Given the description of an element on the screen output the (x, y) to click on. 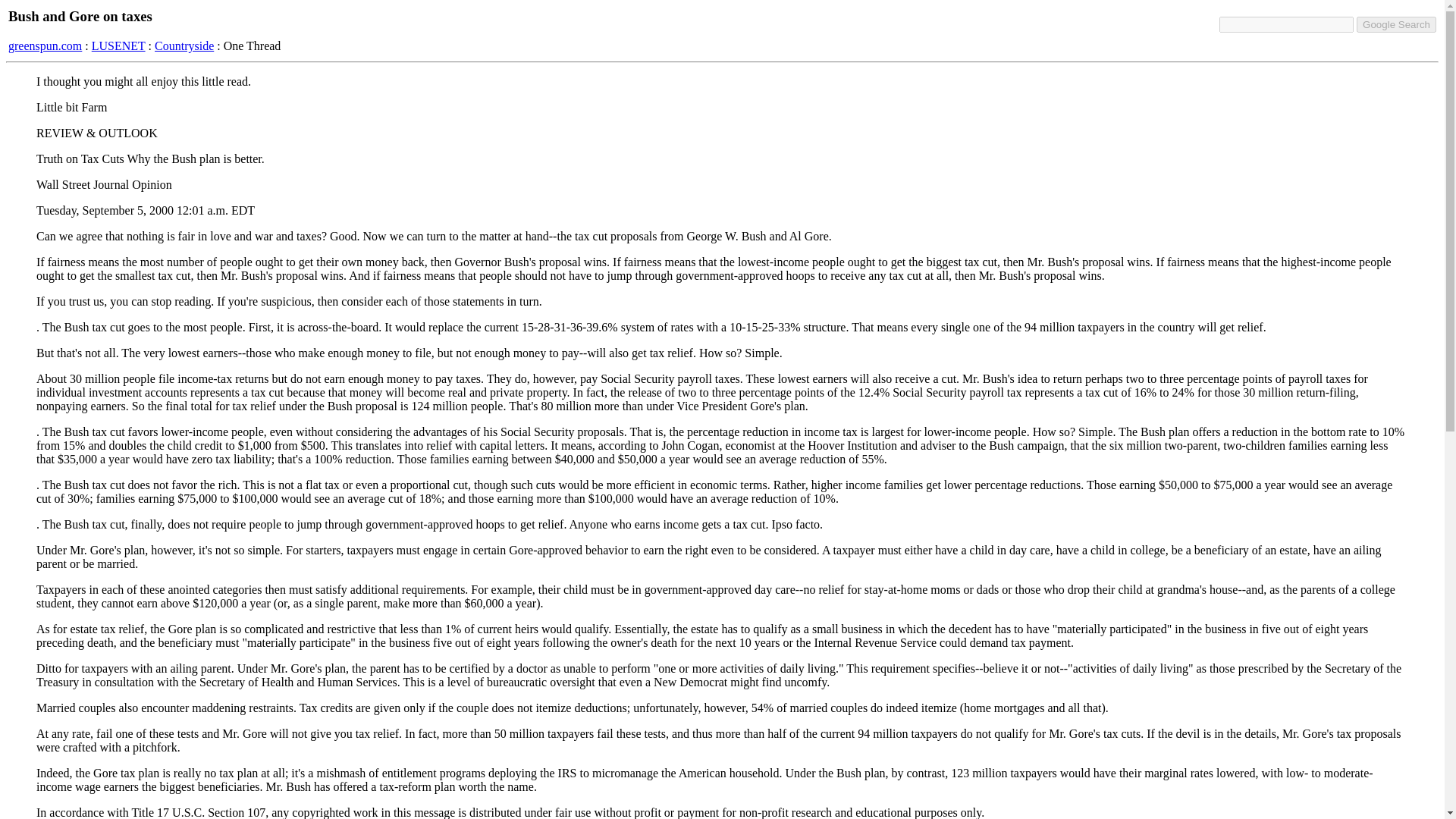
greenspun.com (44, 45)
Google Search (1395, 24)
Countryside (184, 45)
LUSENET (118, 45)
Google Search (1395, 24)
